Given the description of an element on the screen output the (x, y) to click on. 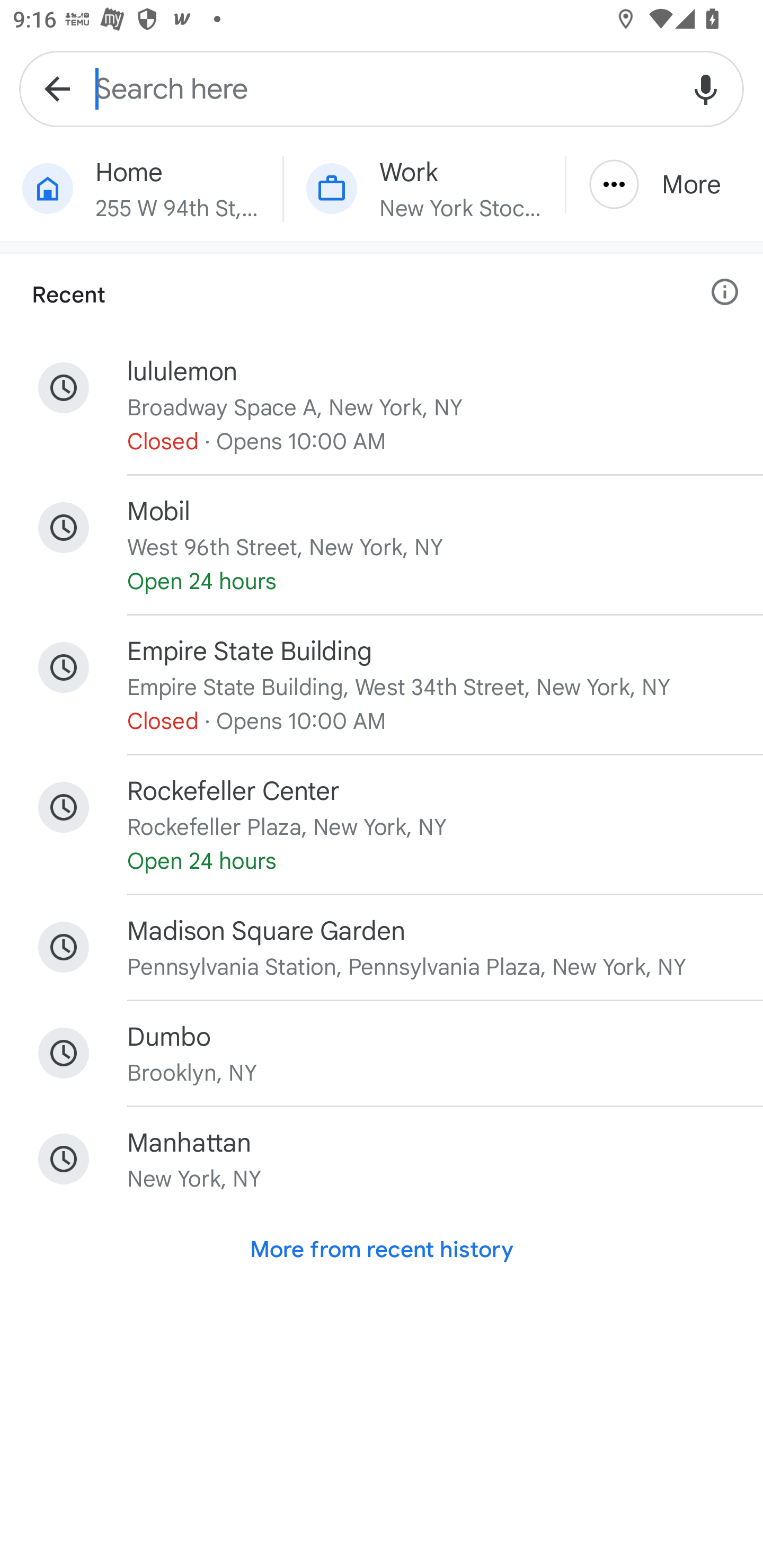
Navigate up (57, 88)
Search here (381, 88)
Voice search (705, 88)
More (664, 184)
Mobil West 96th Street, New York, NY Open 24 hours (381, 544)
Dumbo Brooklyn, NY (381, 1053)
Manhattan New York, NY (381, 1159)
More from recent history (381, 1249)
